Given the description of an element on the screen output the (x, y) to click on. 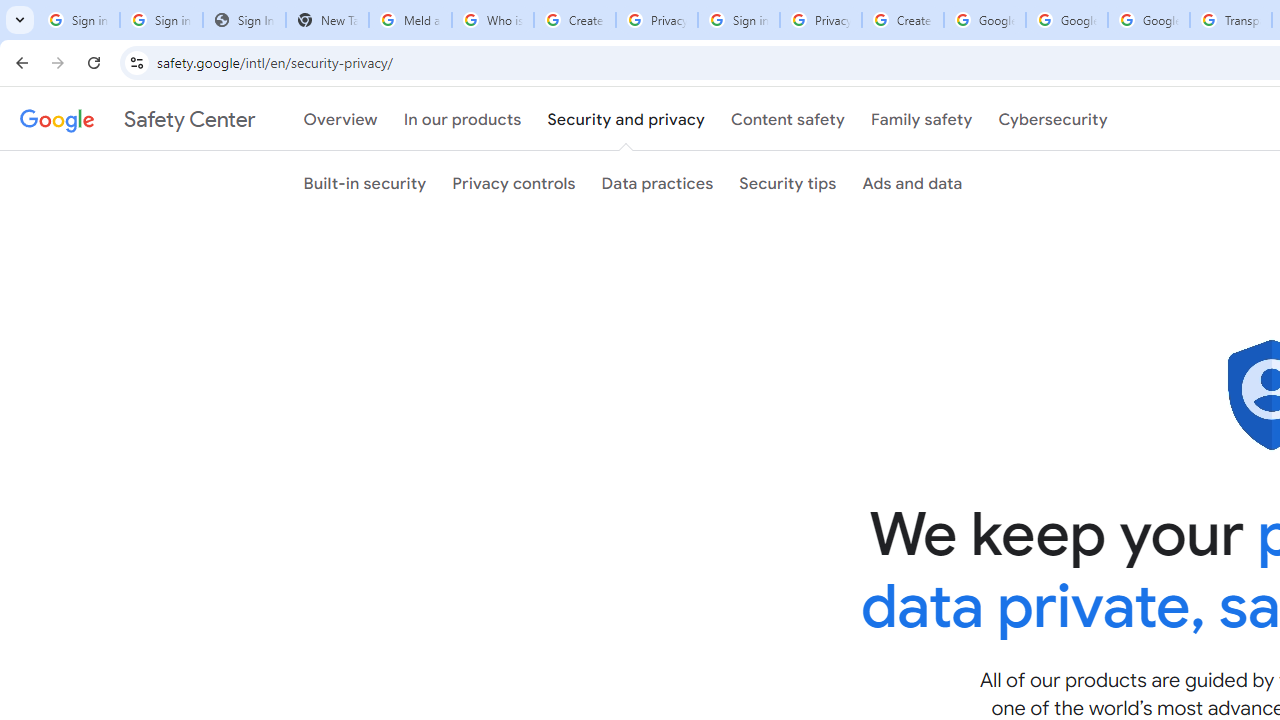
General (774, 294)
Language (774, 478)
Collapse the ribbon automatically (1074, 599)
